Given the description of an element on the screen output the (x, y) to click on. 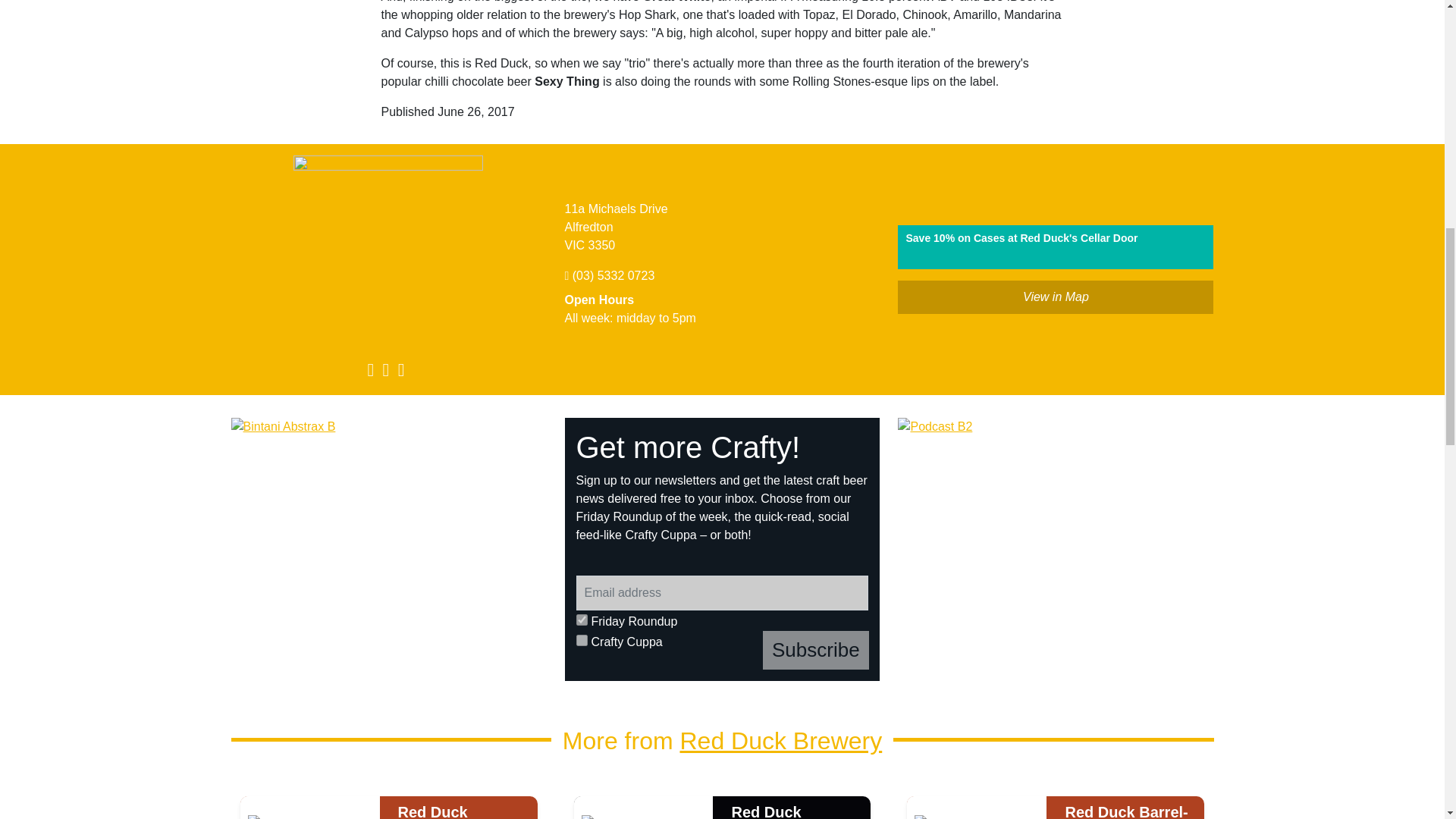
Podcast B2 (1055, 548)
friday (582, 619)
Subscribe (815, 649)
Bintani Abstrax B (389, 548)
cuppa (582, 640)
